Given the description of an element on the screen output the (x, y) to click on. 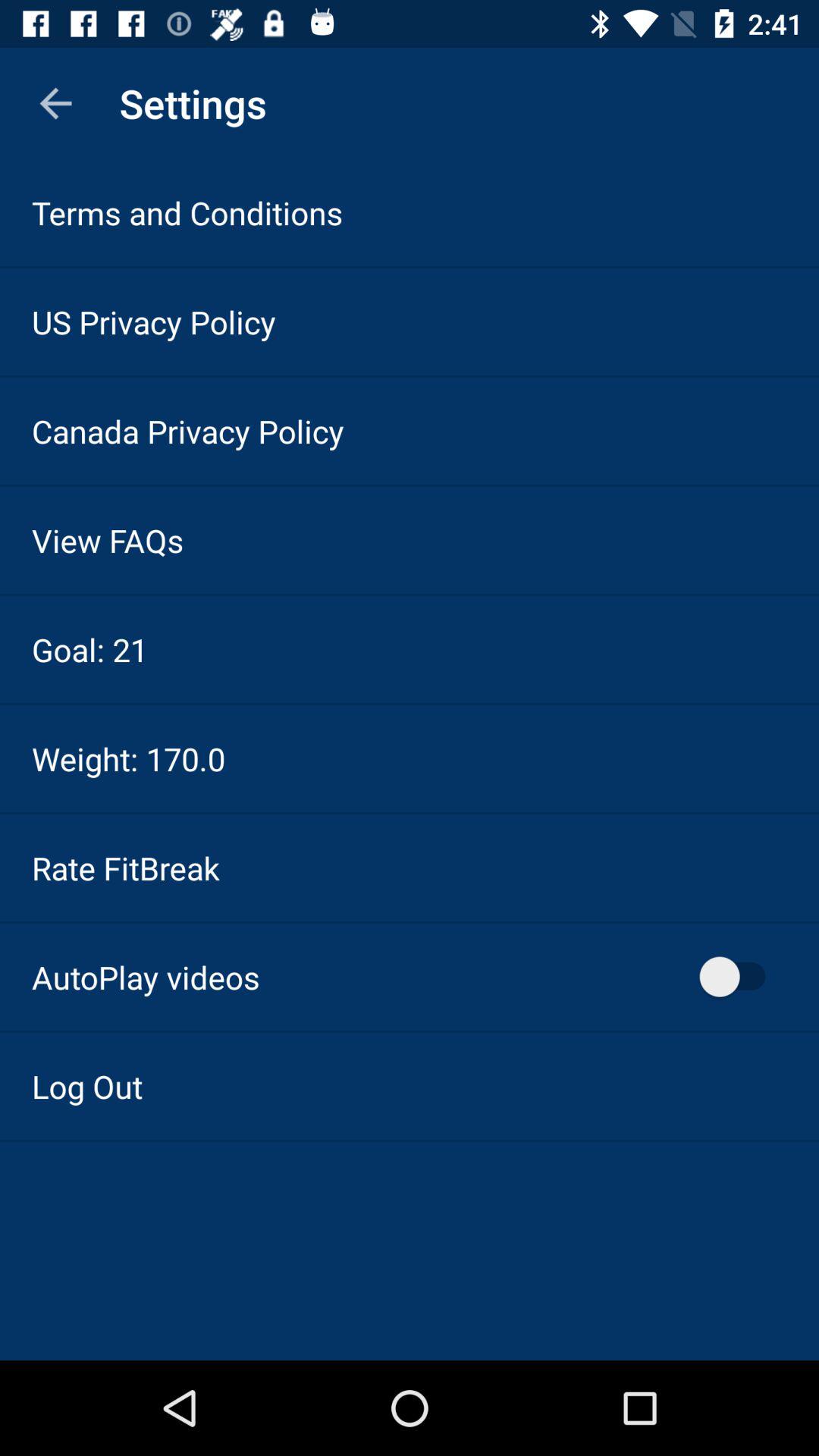
jump to goal: 21 item (89, 649)
